Given the description of an element on the screen output the (x, y) to click on. 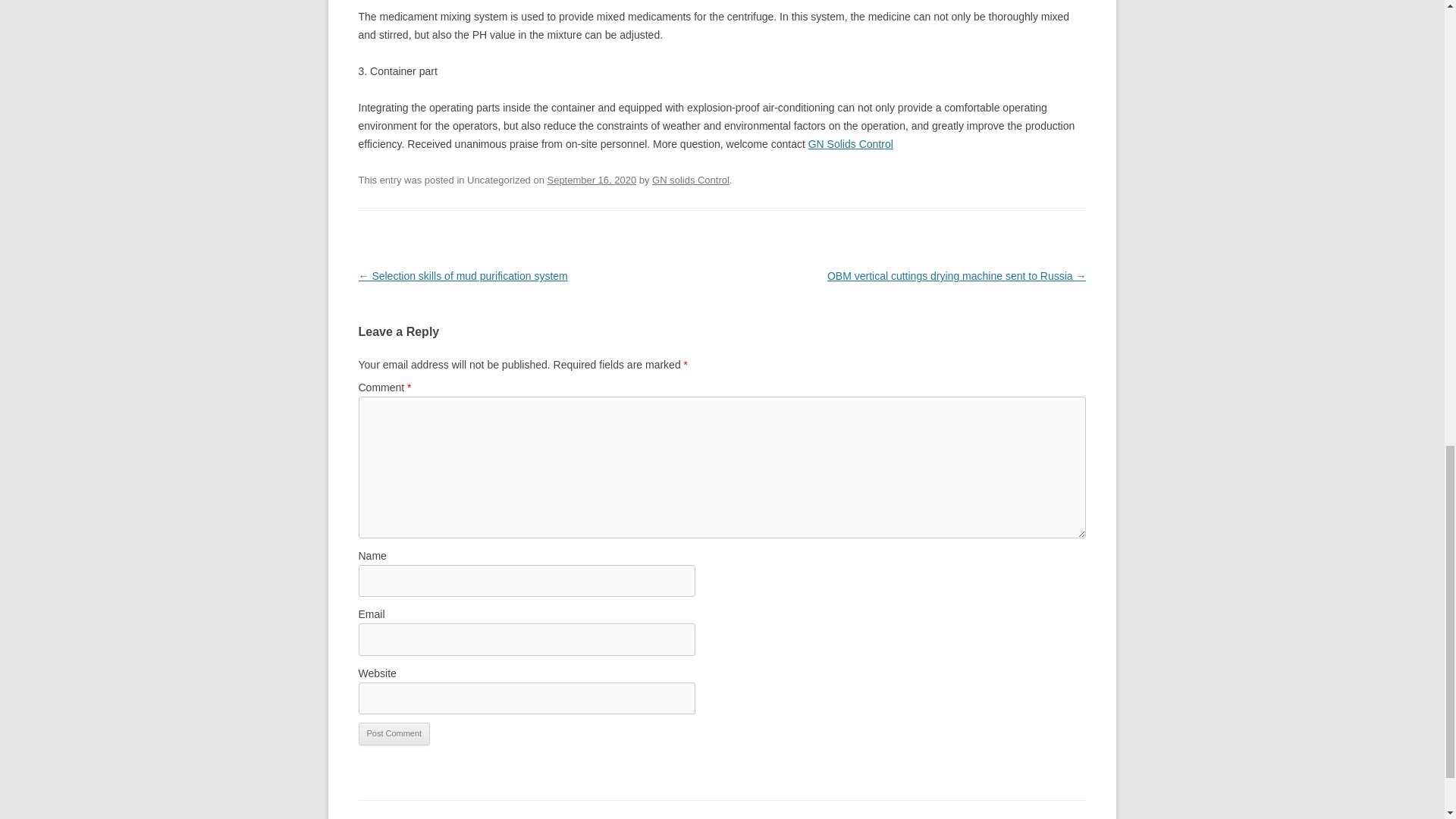
GN Solids Control (850, 143)
View all posts by GN solids Control (690, 179)
September 16, 2020 (592, 179)
Post Comment (393, 733)
Post Comment (393, 733)
8:24 pm (592, 179)
GN solids Control (690, 179)
